Given the description of an element on the screen output the (x, y) to click on. 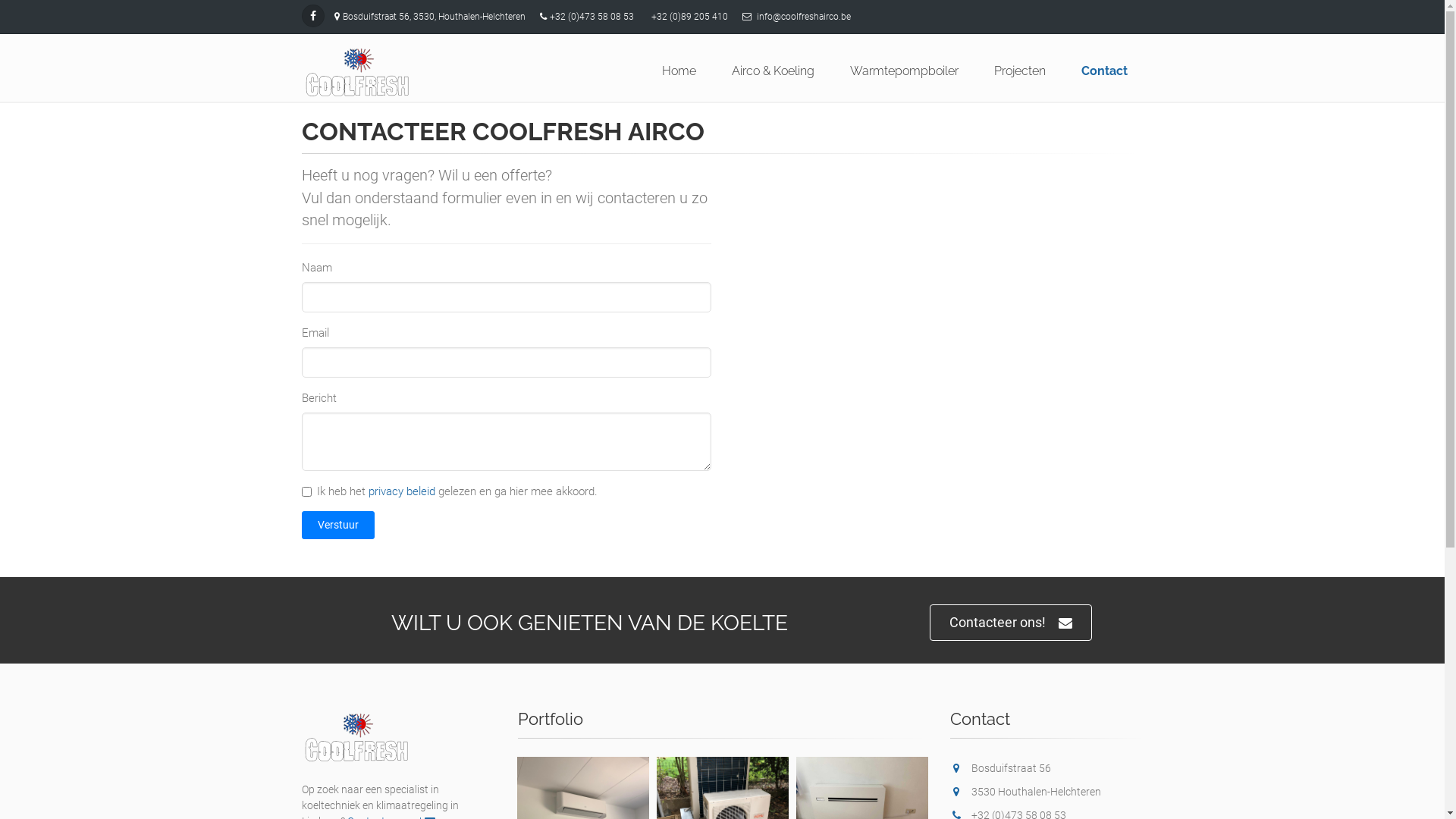
Projecten Element type: text (1020, 70)
Home Element type: text (680, 70)
Verstuur Element type: text (337, 525)
Airco & Koeling Element type: text (773, 70)
Warmtepompboiler Element type: text (905, 70)
privacy beleid Element type: text (401, 491)
Contact Element type: text (1106, 70)
Contacteer ons! Element type: text (1010, 622)
